Given the description of an element on the screen output the (x, y) to click on. 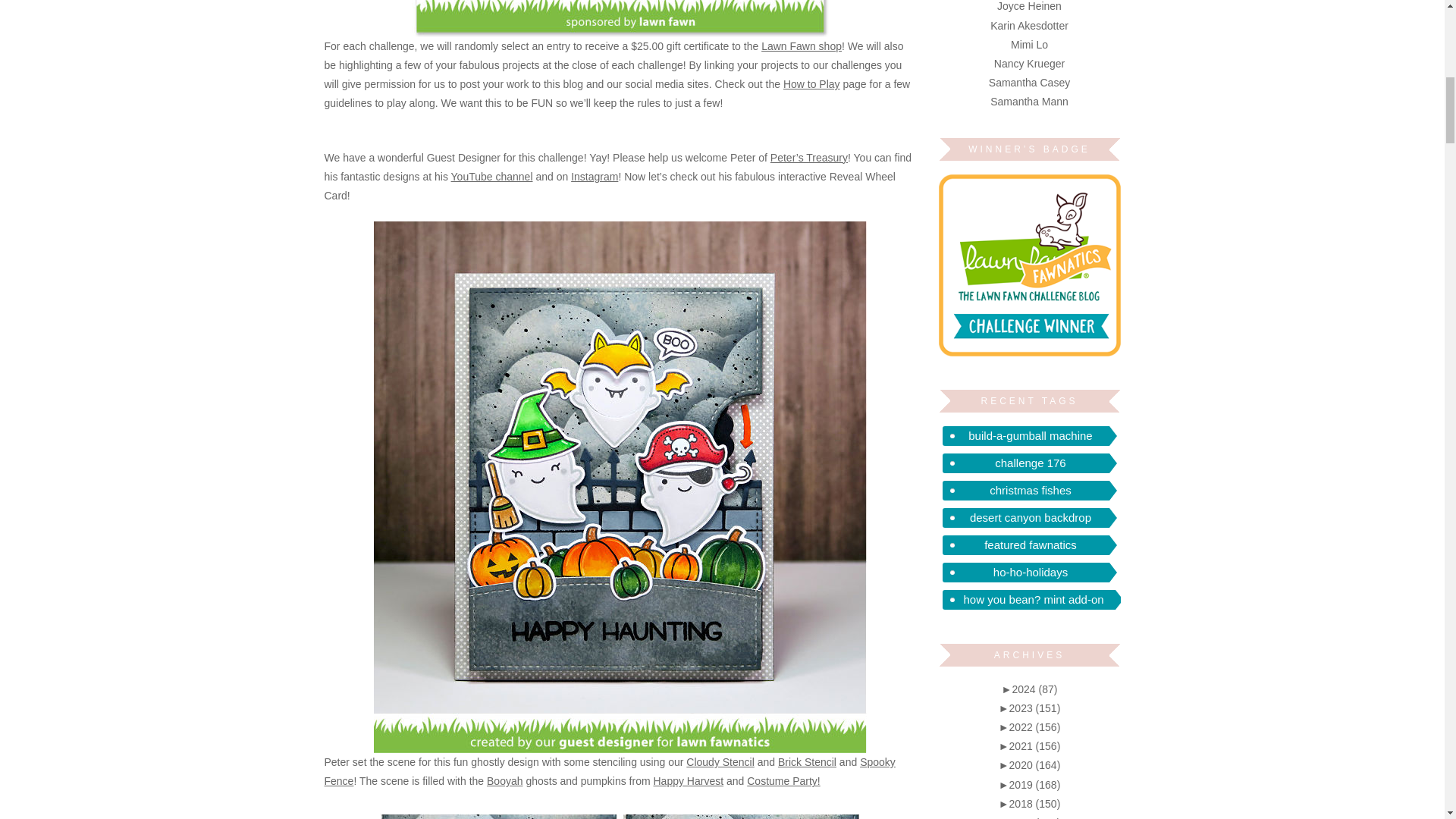
Cloudy Stencil (719, 761)
How to Play (811, 83)
click to expand (1029, 689)
Instagram (593, 176)
Lawn Fawn shop (801, 46)
Brick Stencil (806, 761)
Booyah (504, 780)
Spooky Fence (609, 771)
YouTube channel (491, 176)
Happy Harvest (688, 780)
